Given the description of an element on the screen output the (x, y) to click on. 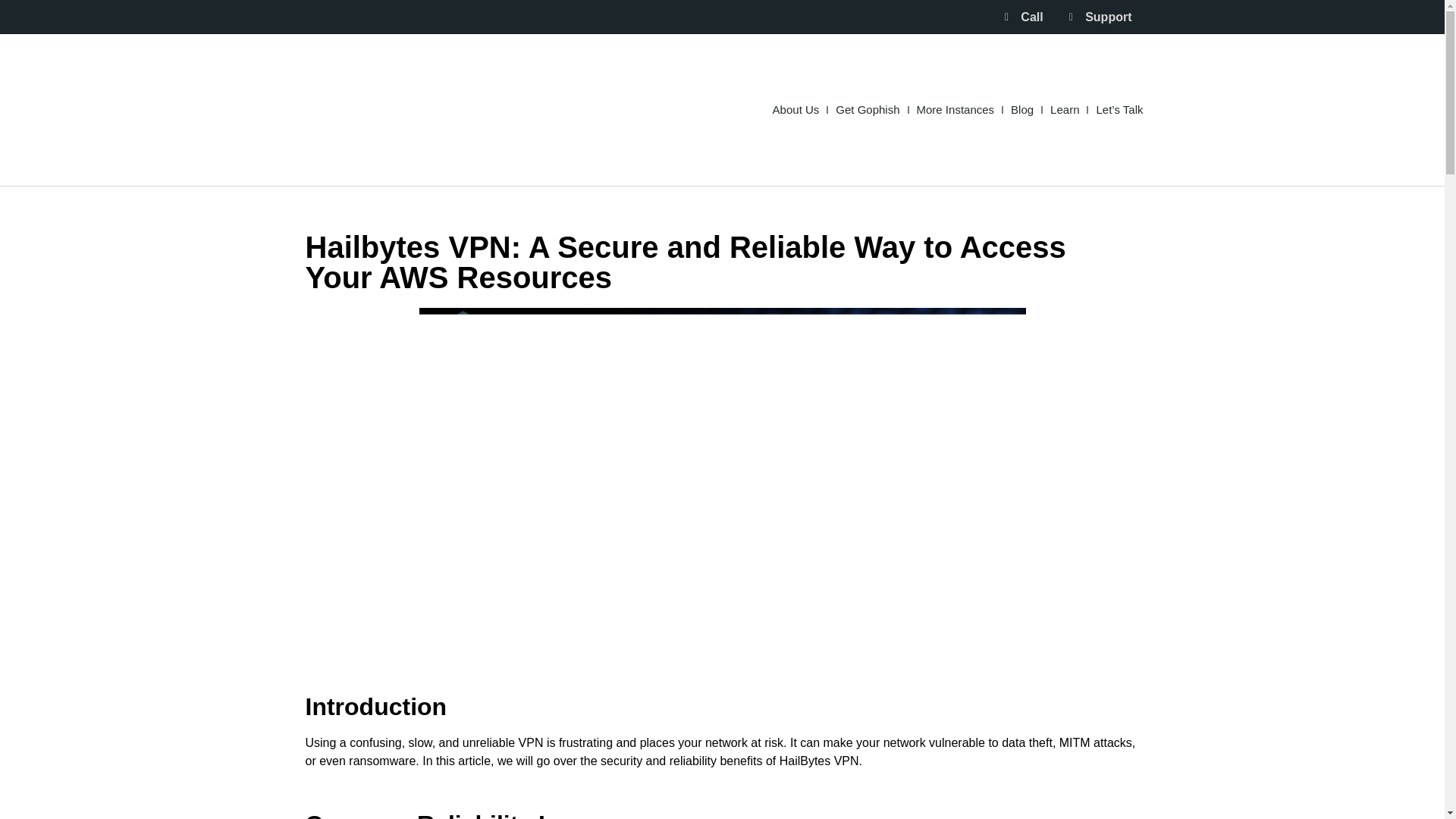
Learn (1064, 109)
About Us (796, 109)
More Instances (955, 109)
Call (1021, 16)
Get Gophish (866, 109)
Support (1098, 16)
Blog (1021, 109)
